Given the description of an element on the screen output the (x, y) to click on. 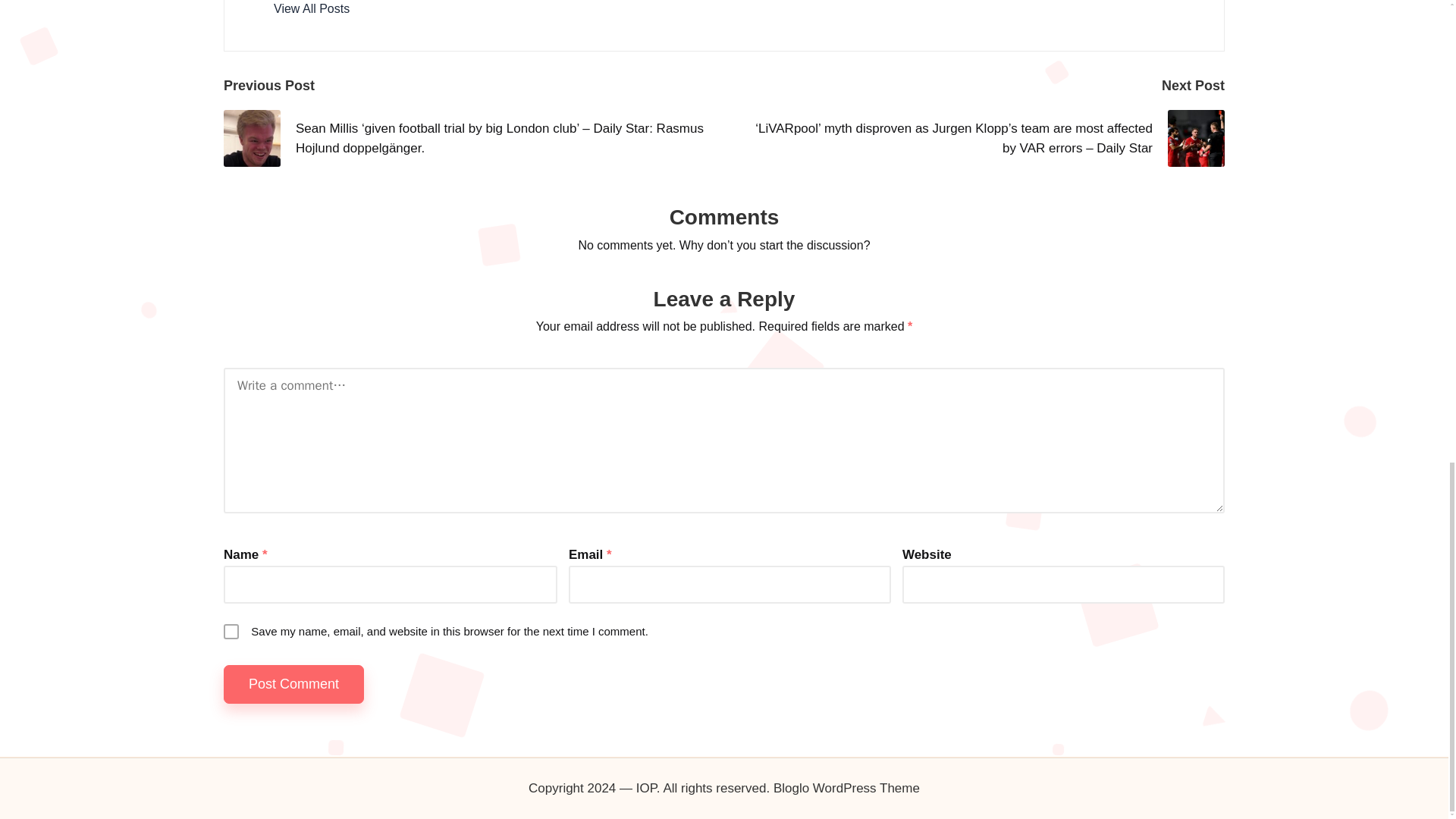
Bloglo WordPress Theme (846, 788)
Post Comment (294, 684)
yes (231, 631)
View All Posts (311, 9)
Post Comment (294, 684)
